Given the description of an element on the screen output the (x, y) to click on. 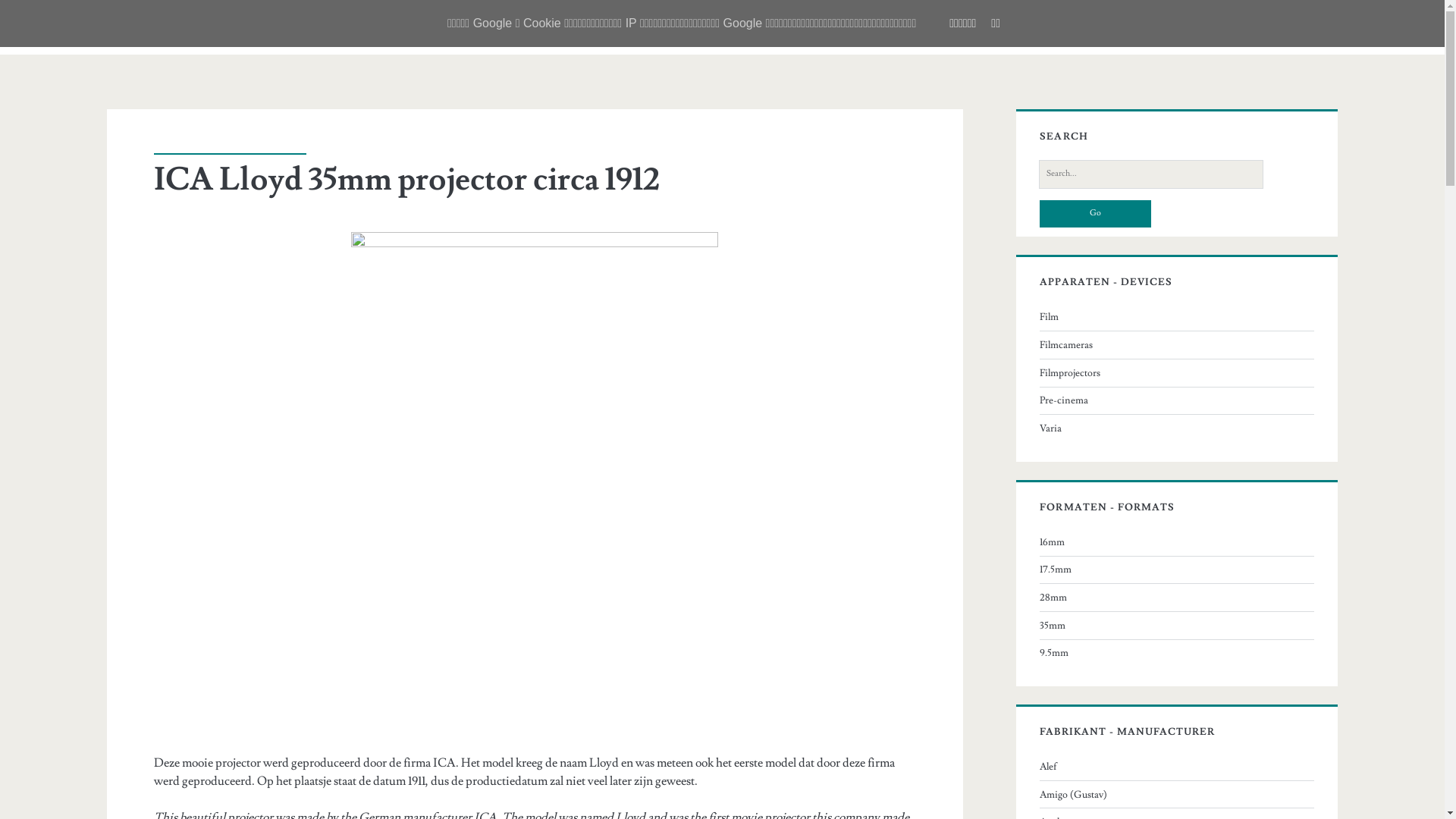
28mm Element type: text (1052, 597)
Film Element type: text (1048, 316)
35mm Element type: text (1052, 625)
ABOUT THE COLLECTION Element type: text (392, 28)
Go Element type: text (1095, 213)
Cinegraphica Element type: text (162, 26)
17.5mm Element type: text (1055, 569)
Varia Element type: text (1050, 428)
HOME Element type: text (286, 28)
Amigo (Gustav) Element type: text (1073, 794)
ICA Lloyd 35mm projector circa 1912 Element type: text (406, 179)
Search for: Element type: hover (1150, 174)
Pre-cinema Element type: text (1063, 400)
Alef Element type: text (1048, 766)
Filmcameras Element type: text (1065, 344)
CONTACT Element type: text (510, 28)
16mm Element type: text (1051, 542)
Filmprojectors Element type: text (1069, 373)
9.5mm Element type: text (1053, 652)
